Given the description of an element on the screen output the (x, y) to click on. 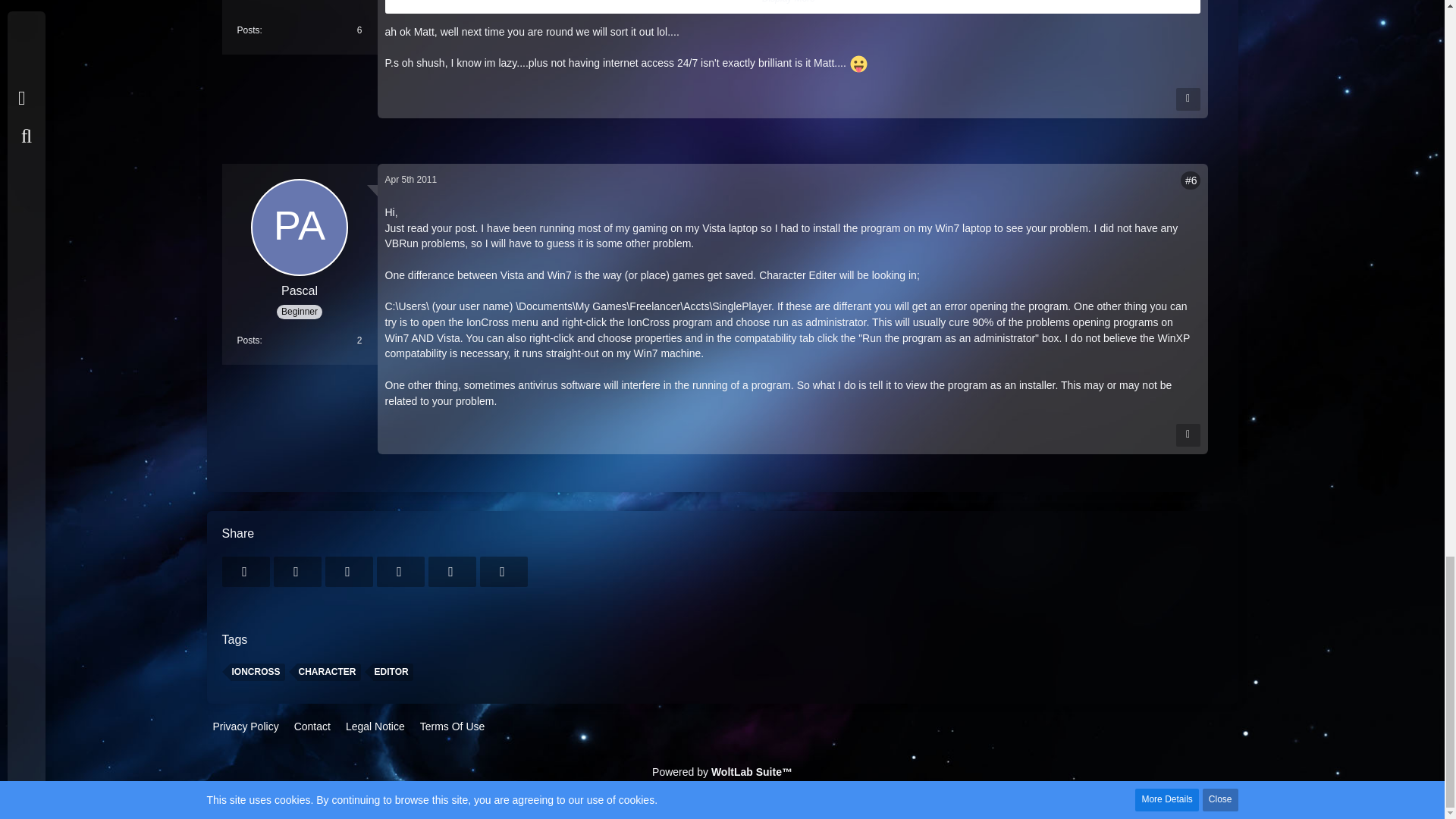
tongue (858, 63)
Pinterest (503, 571)
Facebook (245, 571)
Twitter (296, 571)
LinkedIn (452, 571)
Reddit (399, 571)
